Given the description of an element on the screen output the (x, y) to click on. 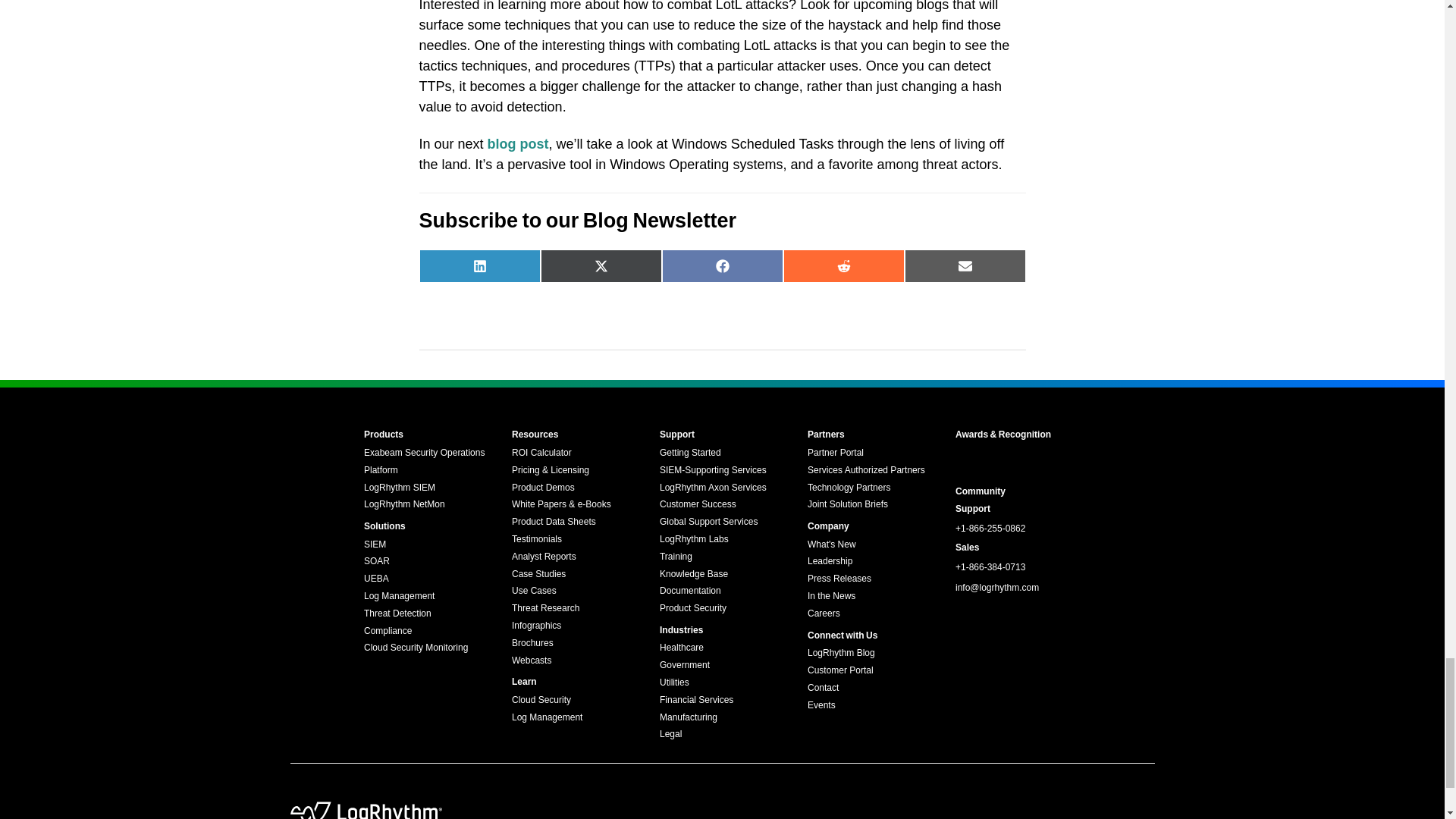
Security Orchestration, Automation and Response (377, 561)
Cloud Security Monitoring (415, 647)
Cybersecurity Compliance (388, 630)
LogRhythm Security Solutions (385, 525)
LogRhythm Products (383, 434)
Log Management (398, 595)
AI-driven Exabeam Security Operations Platform (424, 461)
User and Entity Behavior Analytics (376, 578)
Threat Detection (397, 613)
Security Information and Event Management (374, 543)
